Given the description of an element on the screen output the (x, y) to click on. 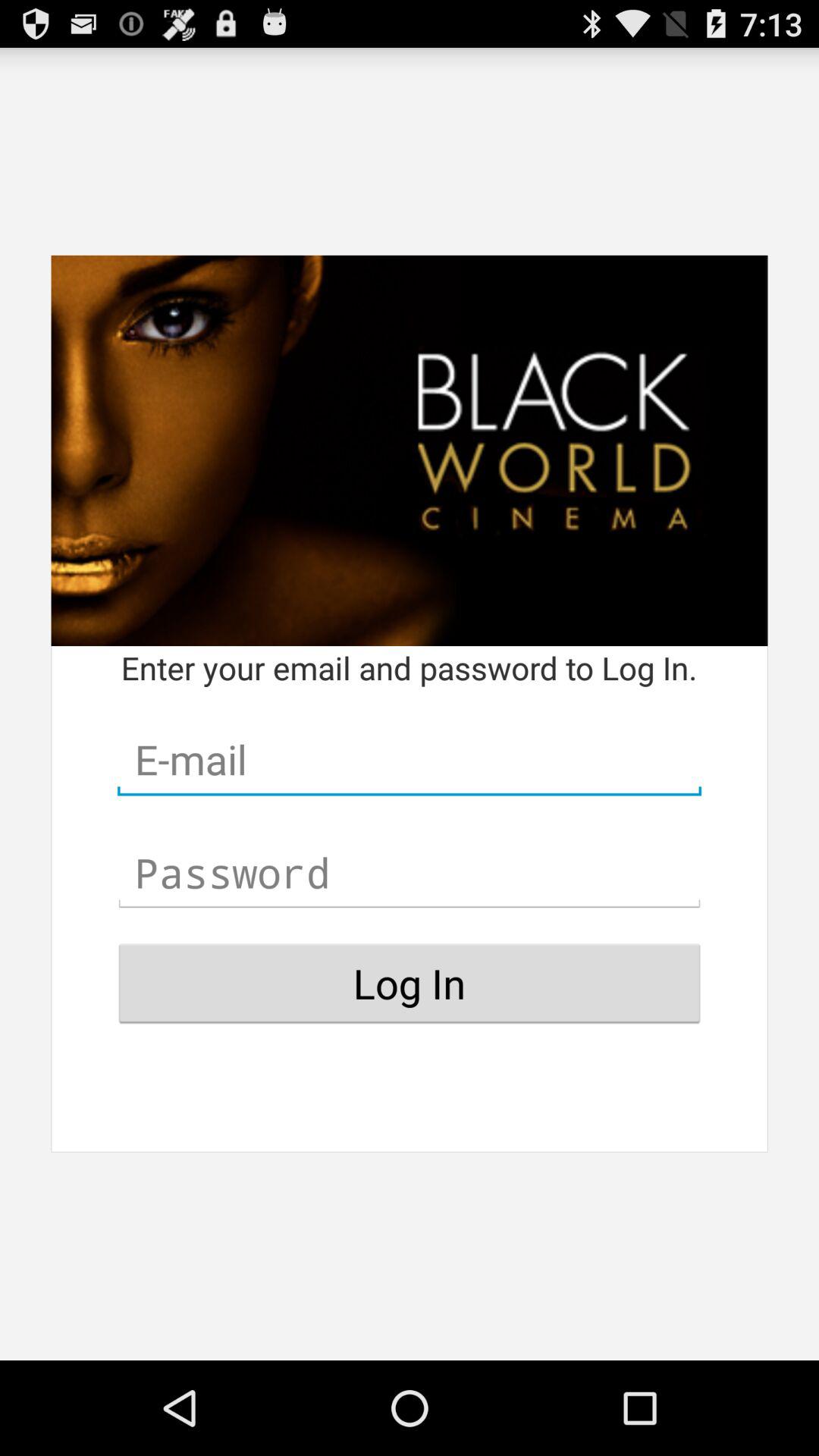
enter password (409, 872)
